Given the description of an element on the screen output the (x, y) to click on. 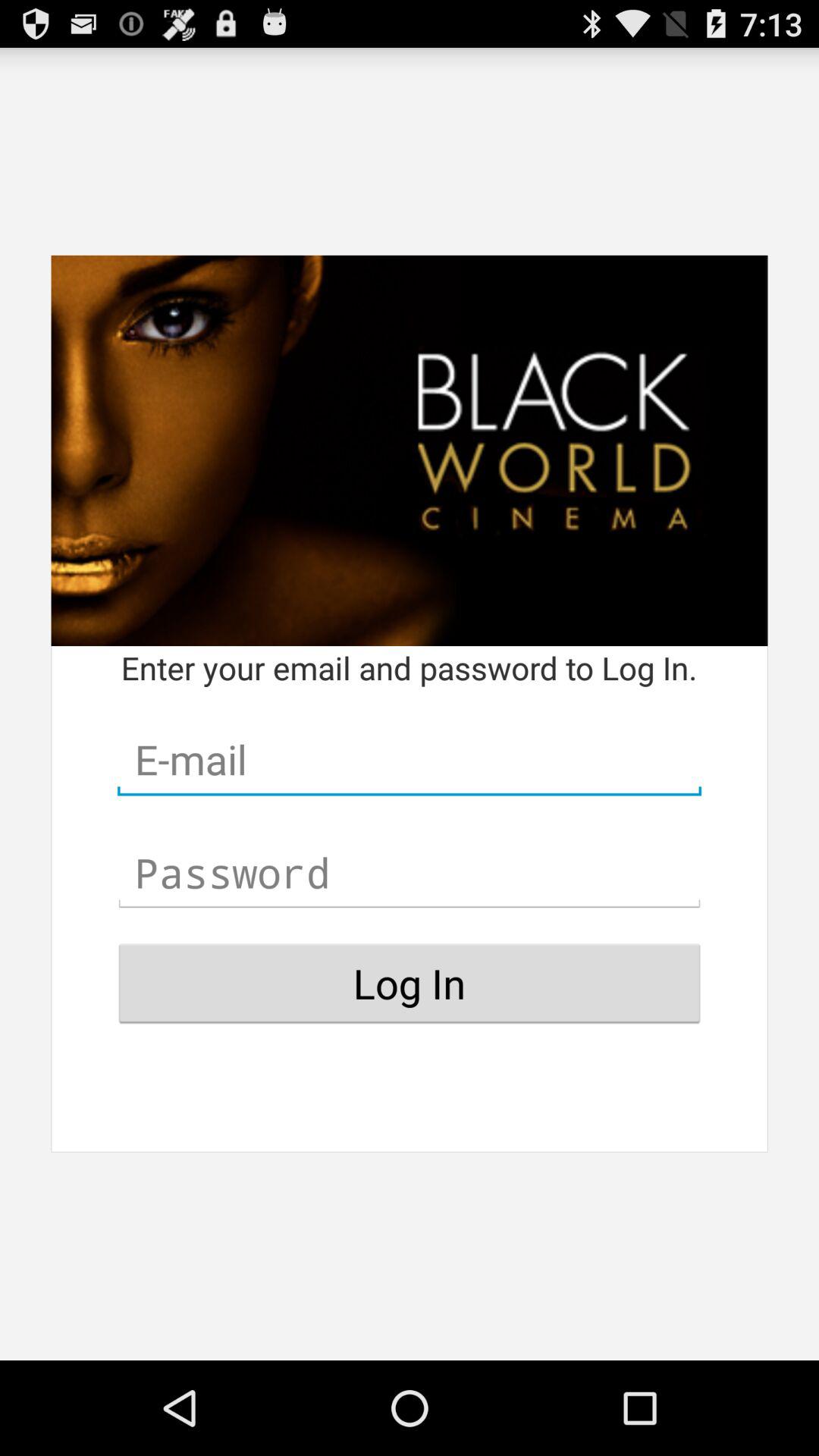
enter password (409, 872)
